Given the description of an element on the screen output the (x, y) to click on. 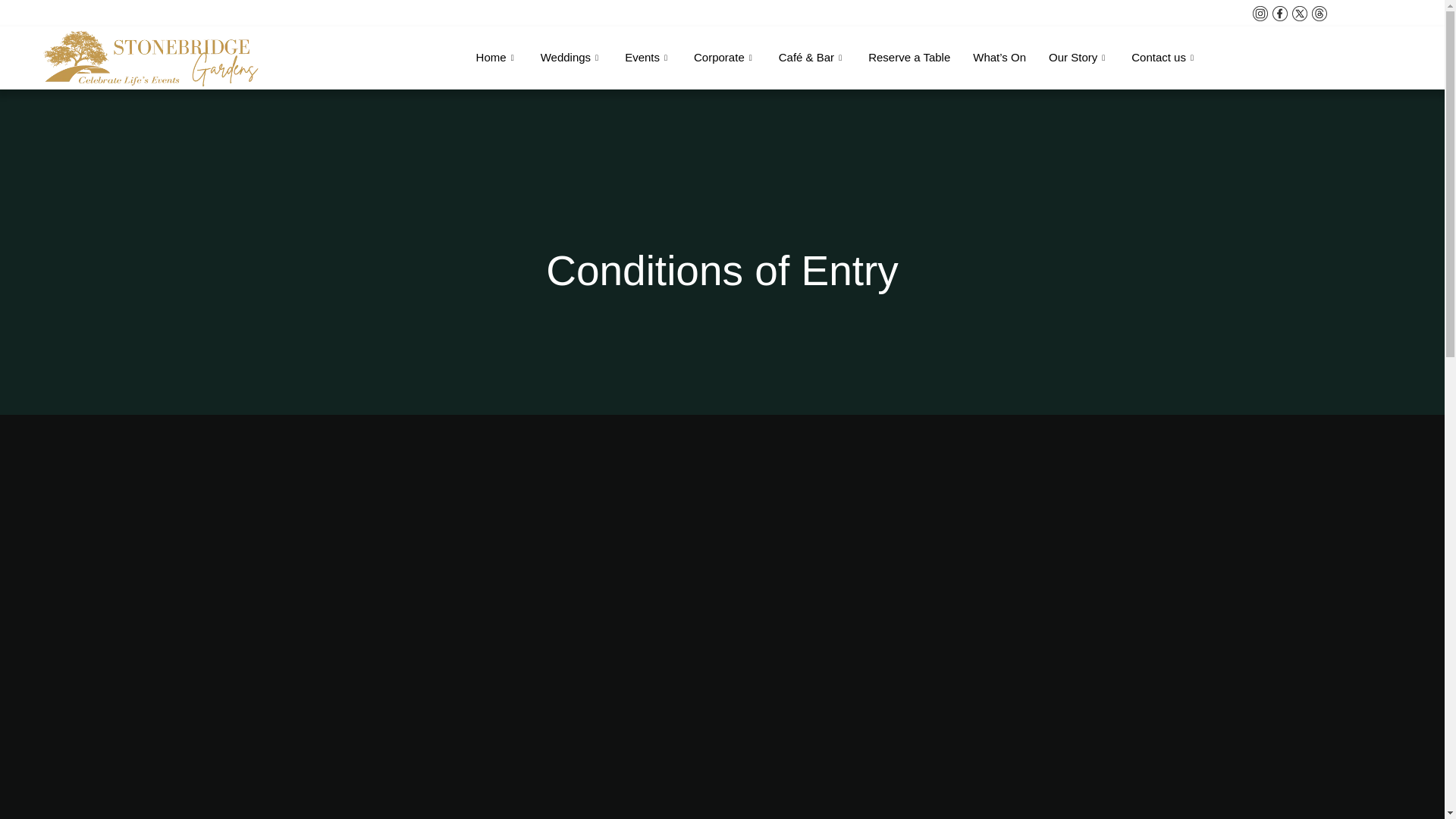
Reserve a Table (908, 57)
Corporate (724, 57)
Home (496, 57)
Conditions of Entry (722, 270)
Events (647, 57)
Contact us (1163, 57)
Our Story (1077, 57)
Weddings (570, 57)
